Given the description of an element on the screen output the (x, y) to click on. 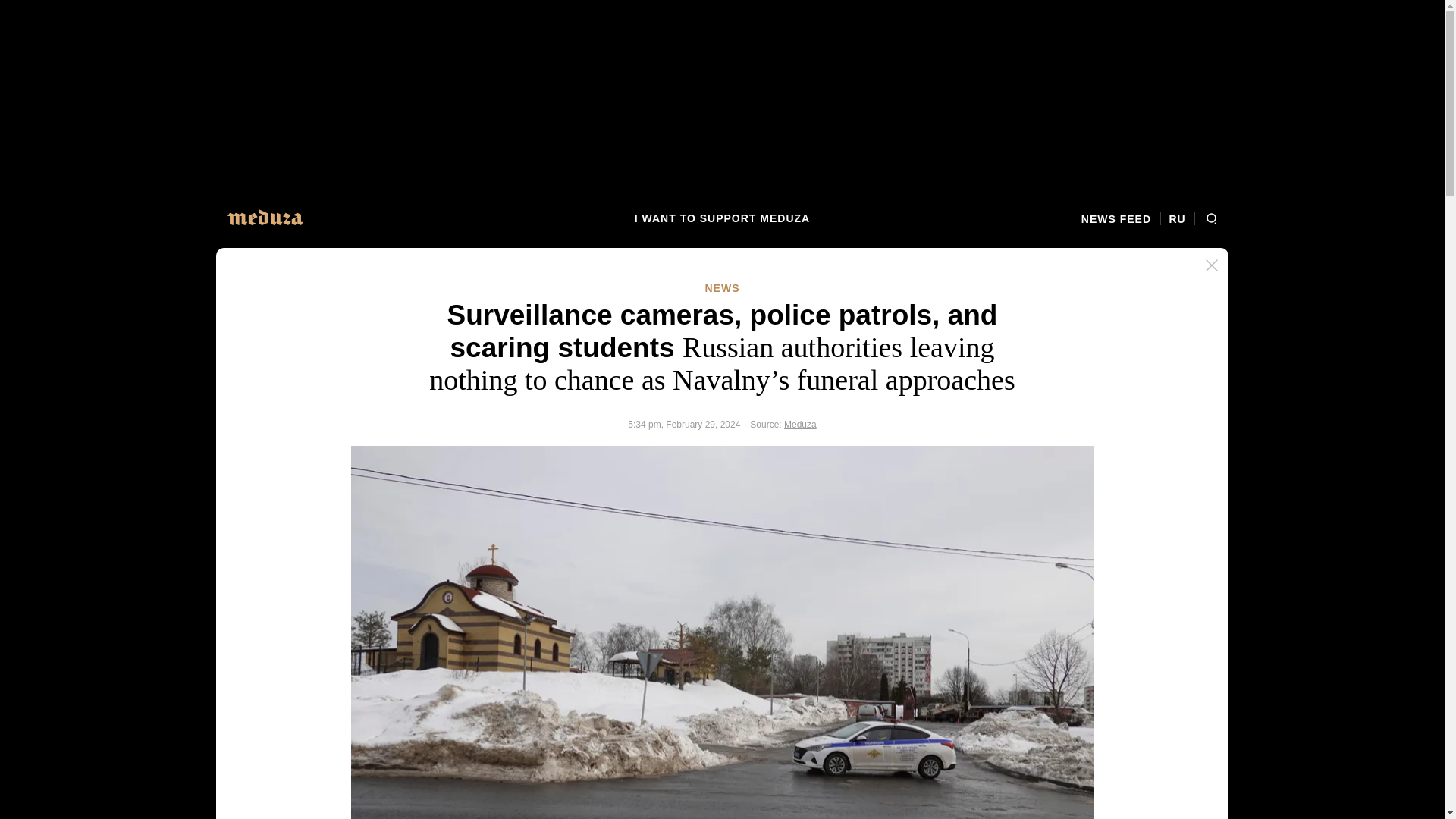
Meduza (800, 424)
NEWS FEED (1120, 218)
RU (1176, 218)
I WANT TO SUPPORT MEDUZA (722, 218)
